Given the description of an element on the screen output the (x, y) to click on. 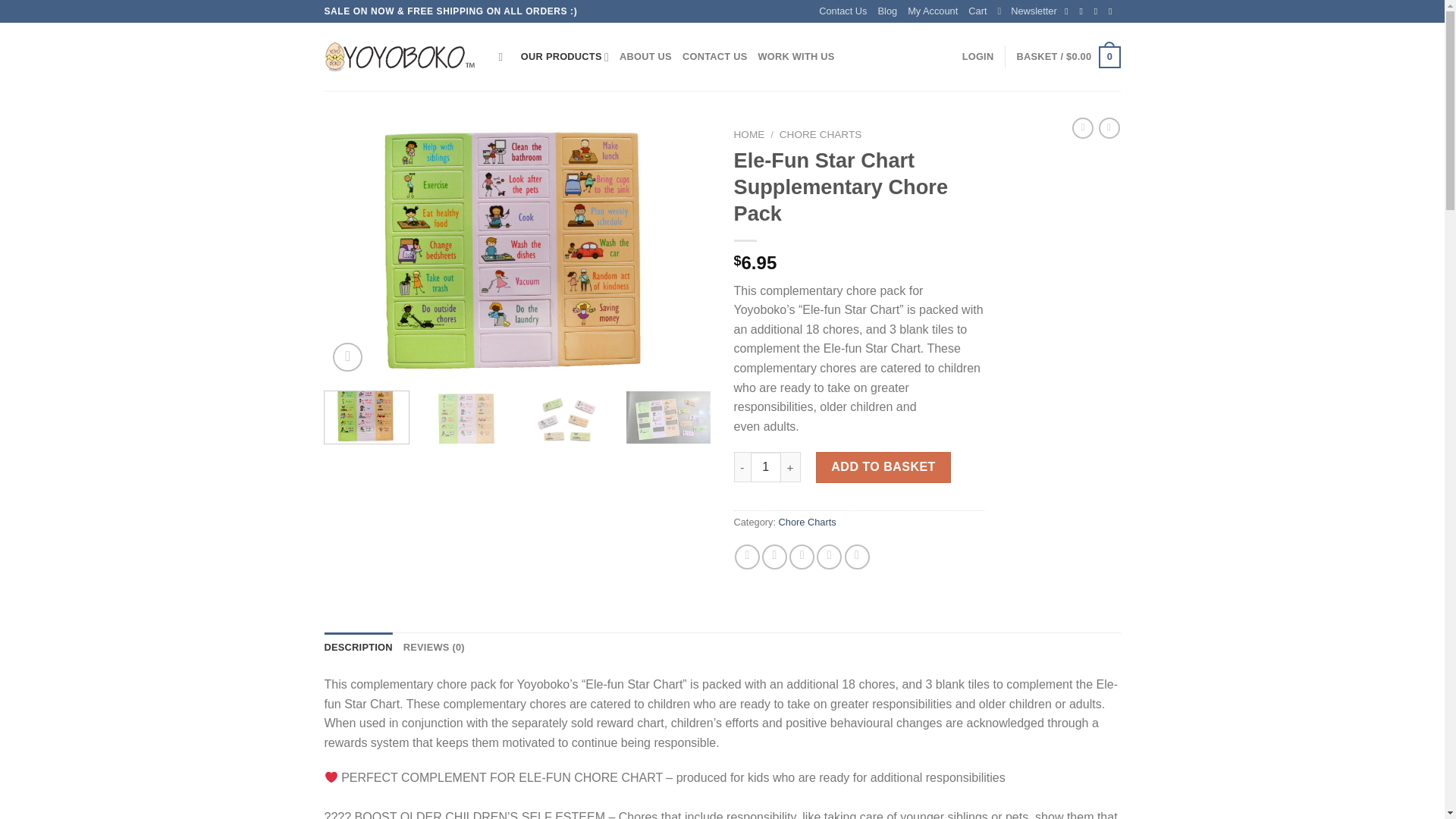
Chore Chart Pack (517, 250)
1 (765, 467)
OUR PRODUCTS (564, 56)
Contact Us (842, 11)
Yoyoboko - Playthings with a Purpose (400, 57)
My Account (932, 11)
Qty (765, 467)
ABOUT US (645, 56)
Newsletter (1027, 11)
LOGIN (978, 56)
CONTACT US (715, 56)
Basket (1067, 57)
WORK WITH US (795, 56)
